Given the description of an element on the screen output the (x, y) to click on. 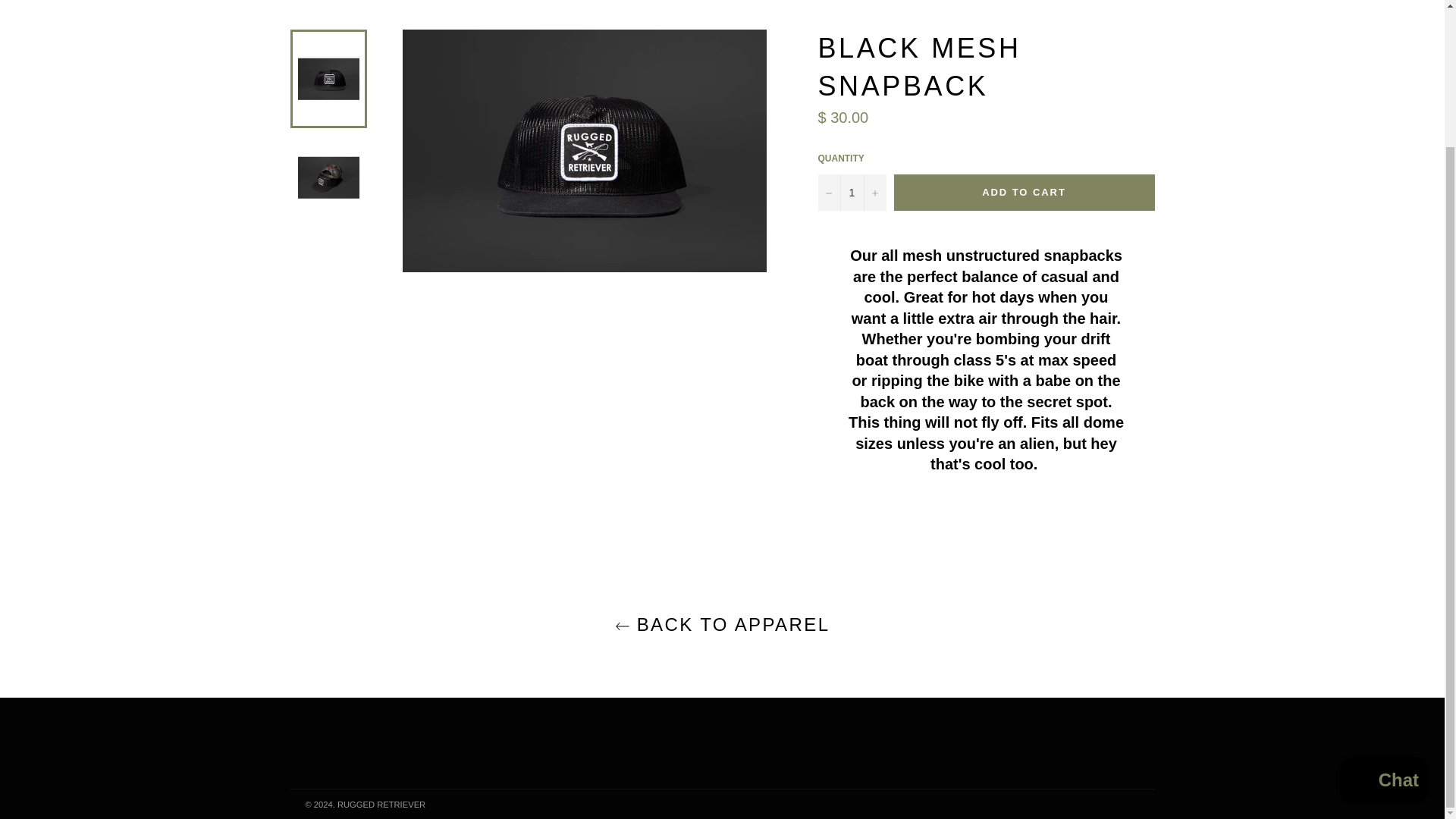
Shopify online store chat (1383, 613)
ADD TO CART (1023, 192)
1 (850, 192)
BACK TO APPAREL (721, 624)
